Given the description of an element on the screen output the (x, y) to click on. 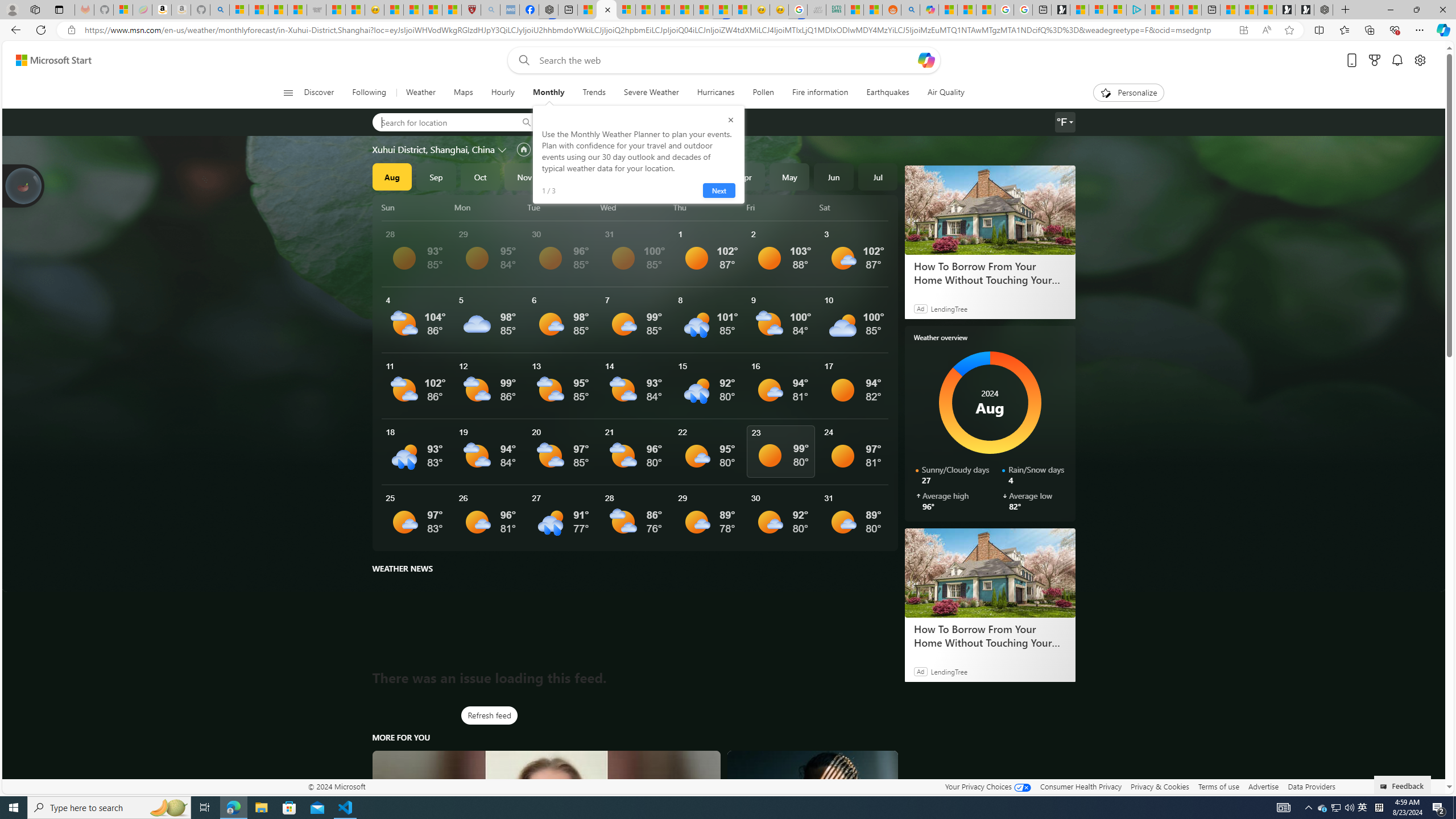
Sep (435, 176)
Terms of use (1218, 785)
Consumer Health Privacy (1080, 785)
Open navigation menu (287, 92)
Oct (480, 176)
Monthly (548, 92)
Hurricanes (716, 92)
See More Details (853, 517)
Join us in planting real trees to help our planet! (23, 185)
